Given the description of an element on the screen output the (x, y) to click on. 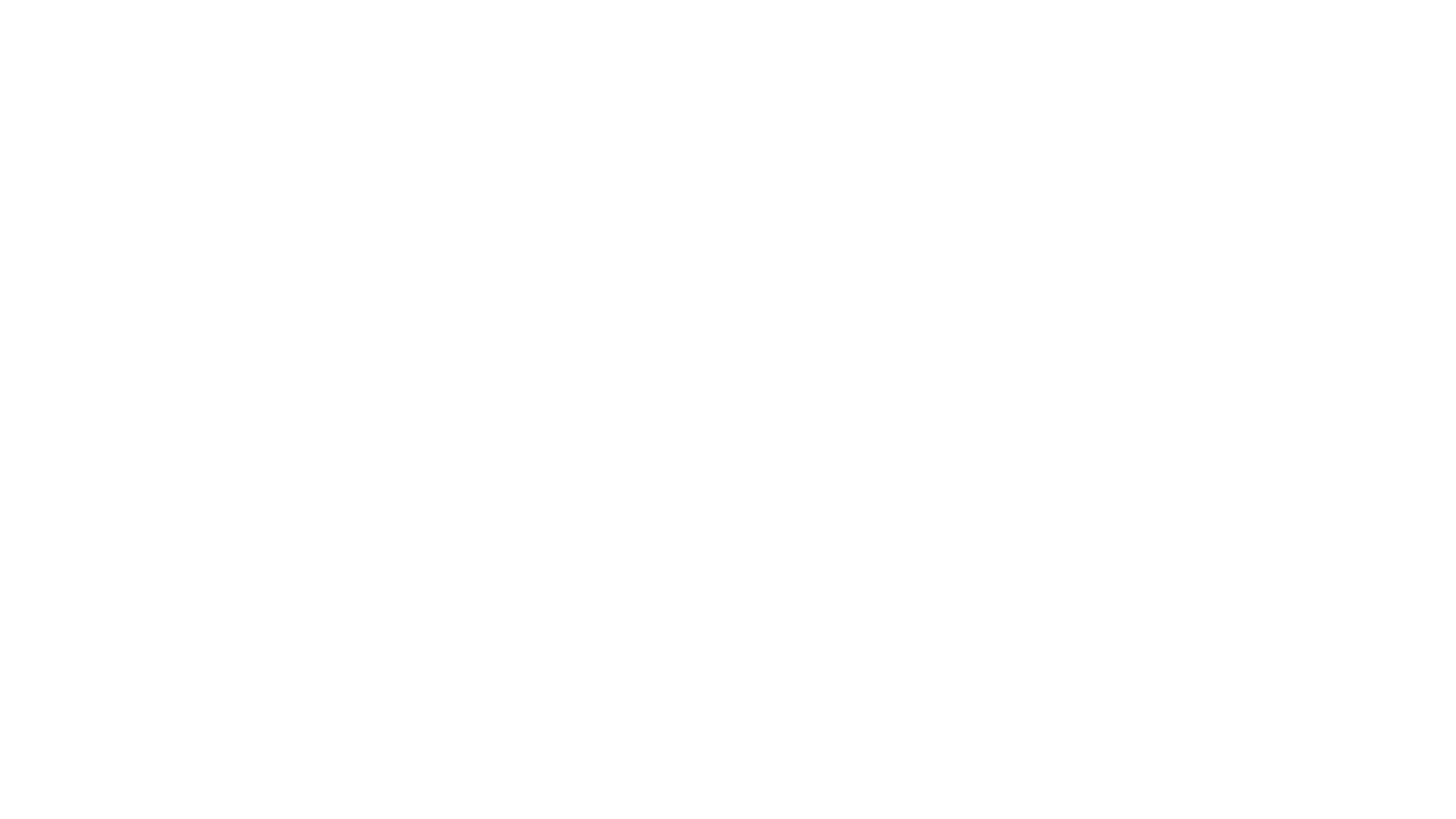
Cloudflare Element type: text (798, 799)
